Given the description of an element on the screen output the (x, y) to click on. 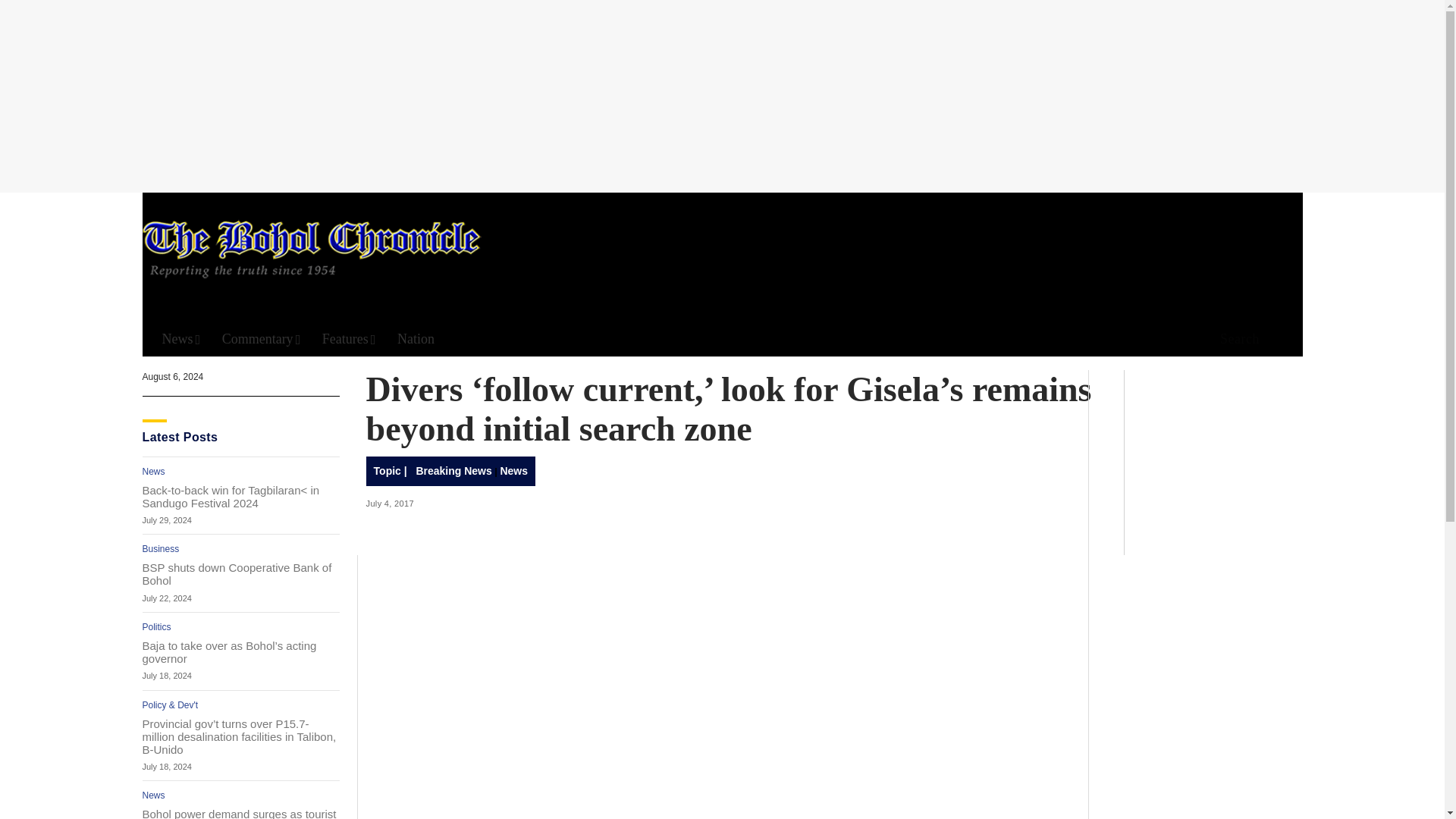
Features (348, 339)
Search (946, 157)
BSP shuts down Cooperative Bank of Bohol (240, 574)
News (153, 795)
News (180, 339)
Politics (156, 626)
News (153, 471)
Business (160, 548)
Nation (415, 339)
Search (1234, 339)
Commentary (261, 339)
Bohol power demand surges as tourist arrivals rise (240, 813)
